Given the description of an element on the screen output the (x, y) to click on. 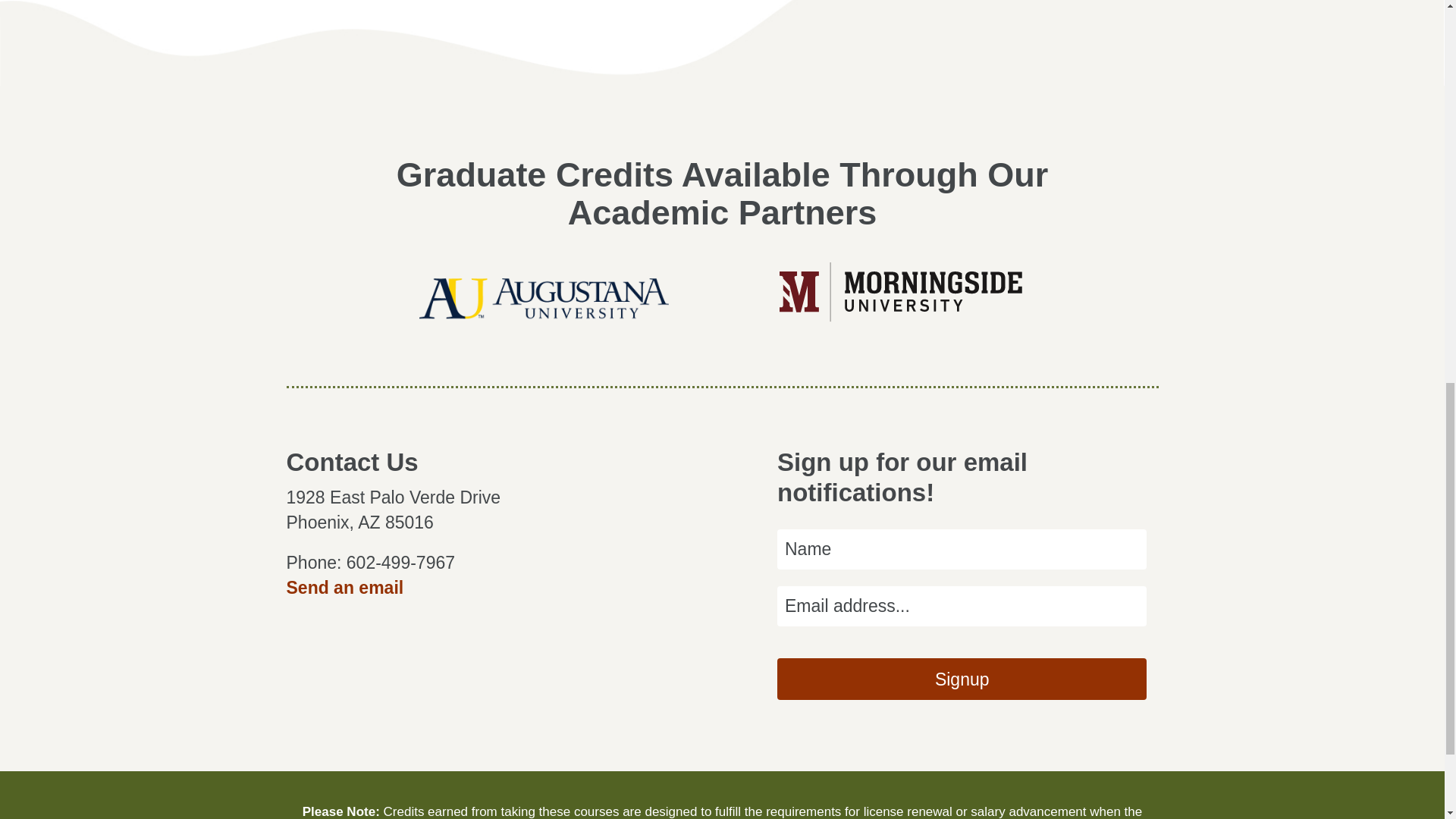
Send an email (345, 587)
602-499-7967 (400, 562)
Signup (962, 679)
Signup (962, 679)
